Given the description of an element on the screen output the (x, y) to click on. 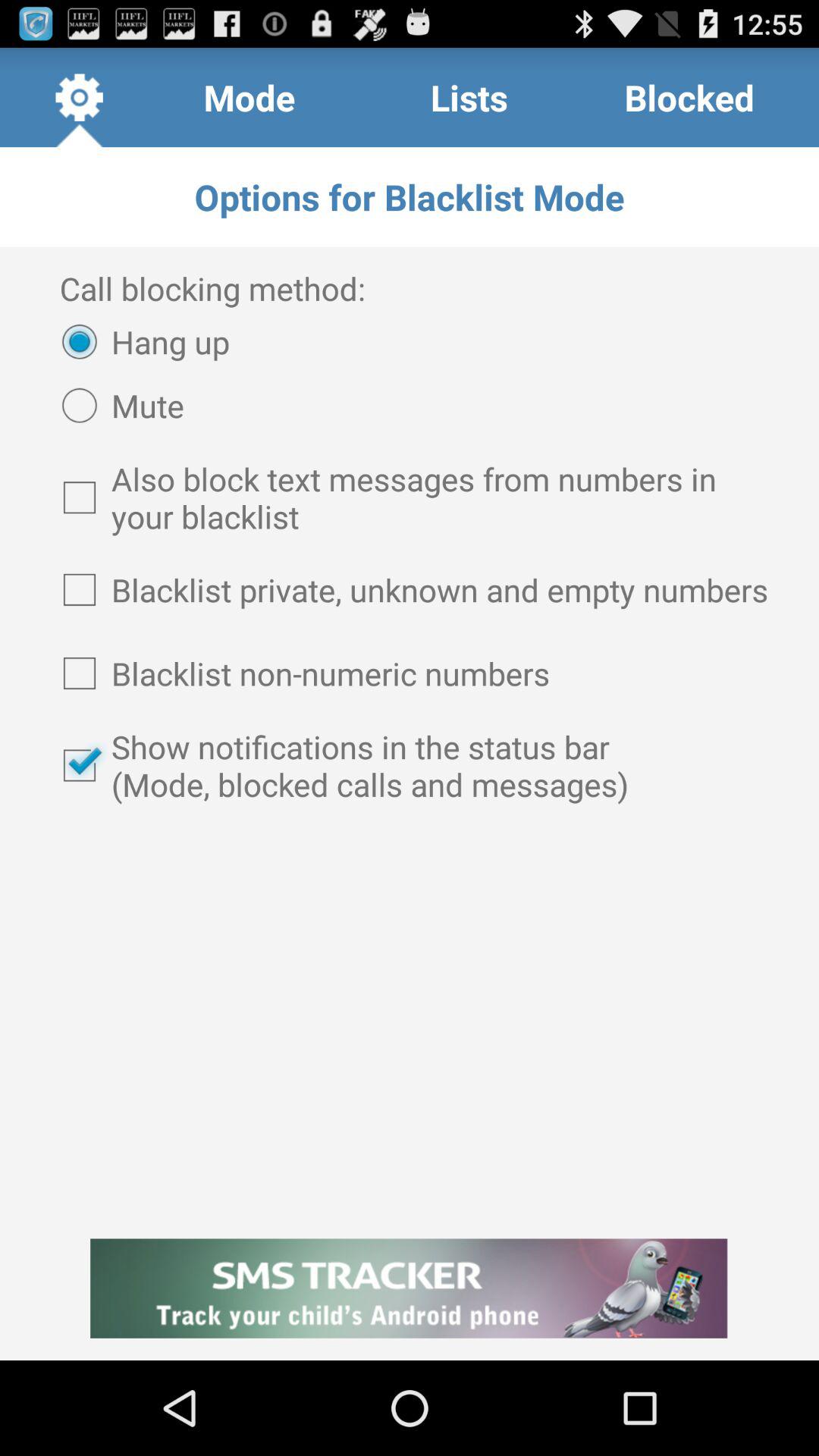
select the checkbox below blacklist private unknown item (409, 673)
